Given the description of an element on the screen output the (x, y) to click on. 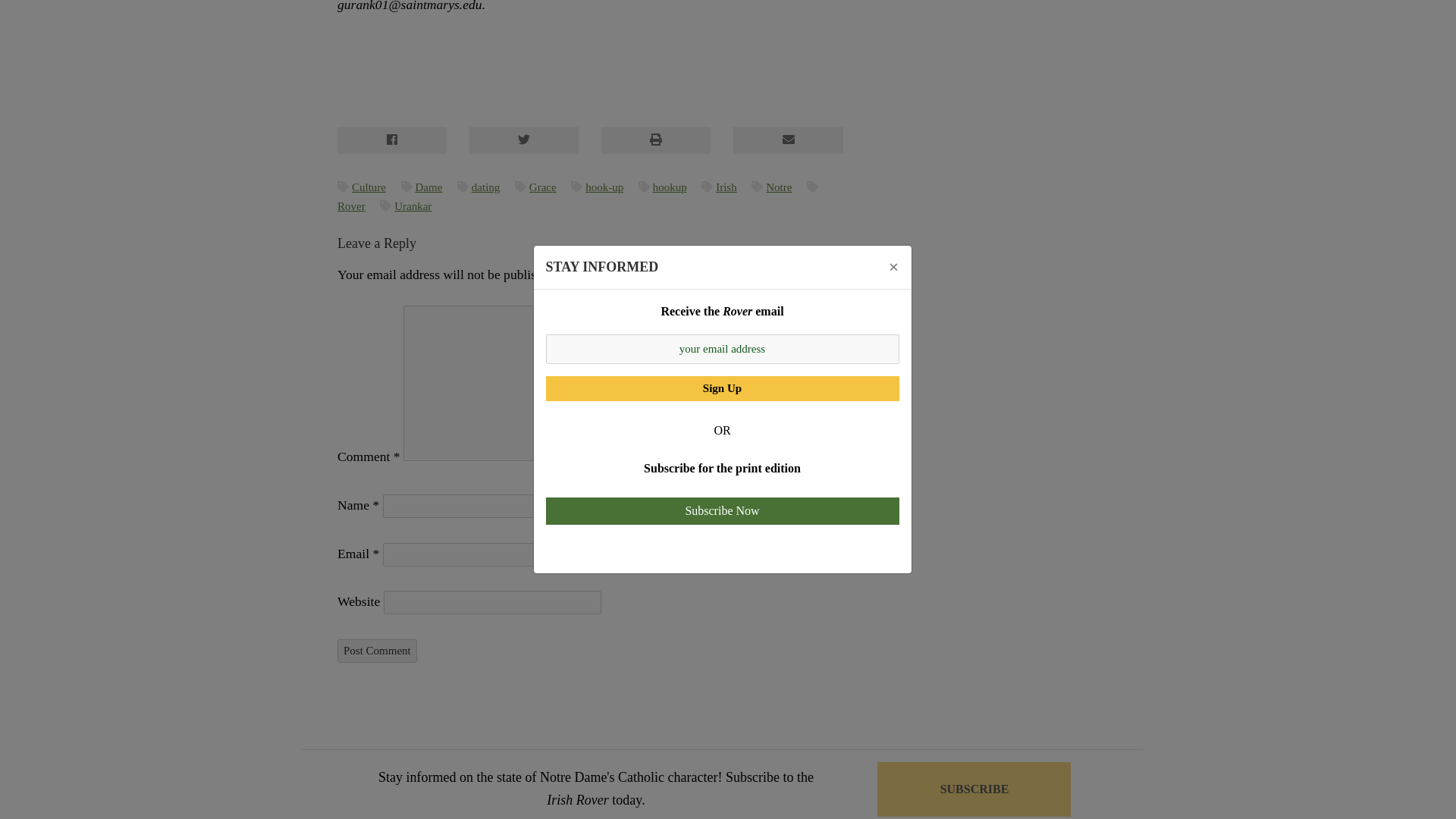
Post Comment (376, 650)
